Given the description of an element on the screen output the (x, y) to click on. 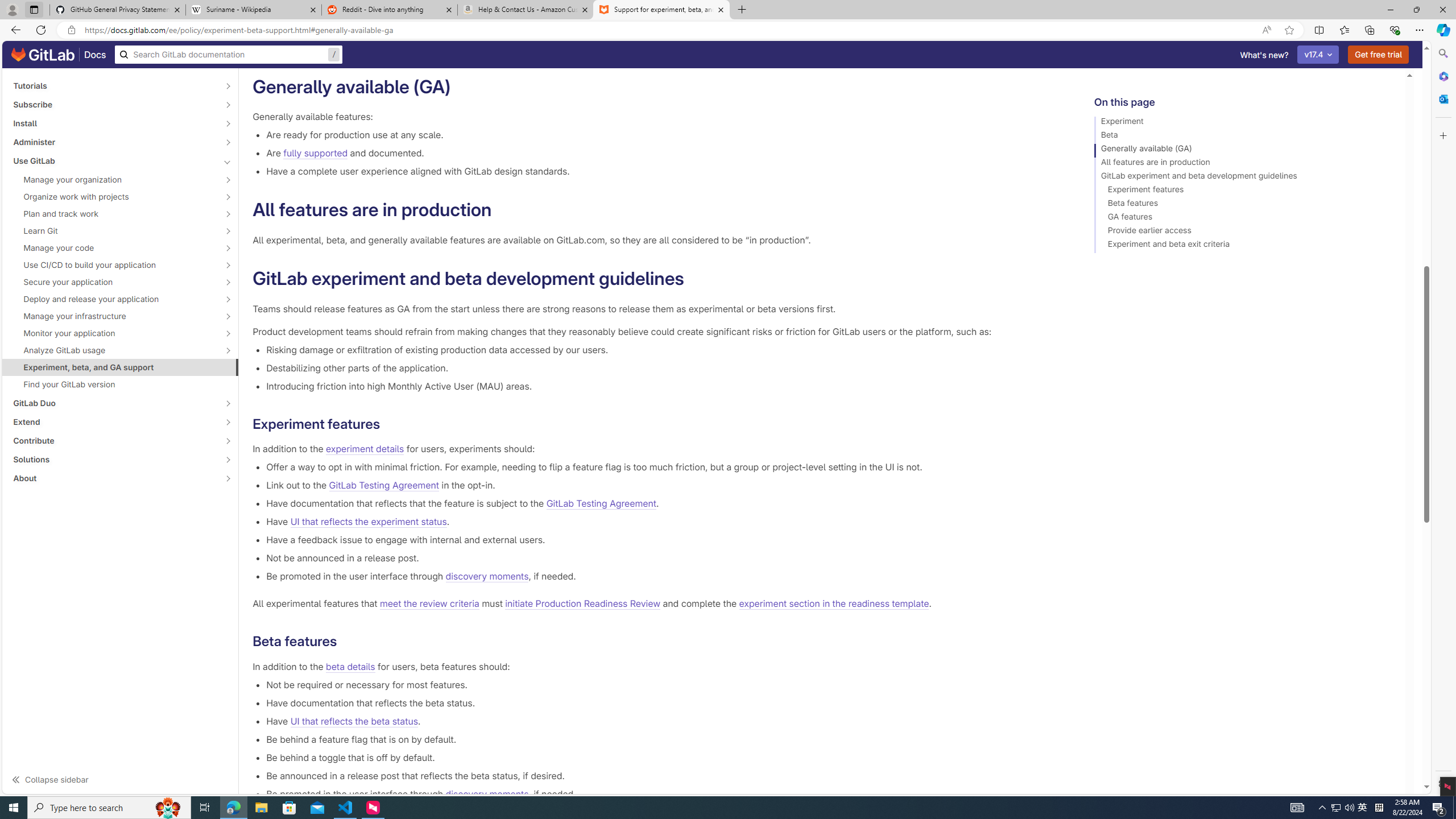
Be behind a toggle that is off by default. (662, 757)
meet the review criteria (429, 603)
Have UI that reflects the experiment status. (662, 521)
All features are in production (1244, 164)
Collapse sidebar (120, 779)
fully supported (315, 153)
Manage your code (113, 247)
experiment section in the readiness template (833, 603)
